Given the description of an element on the screen output the (x, y) to click on. 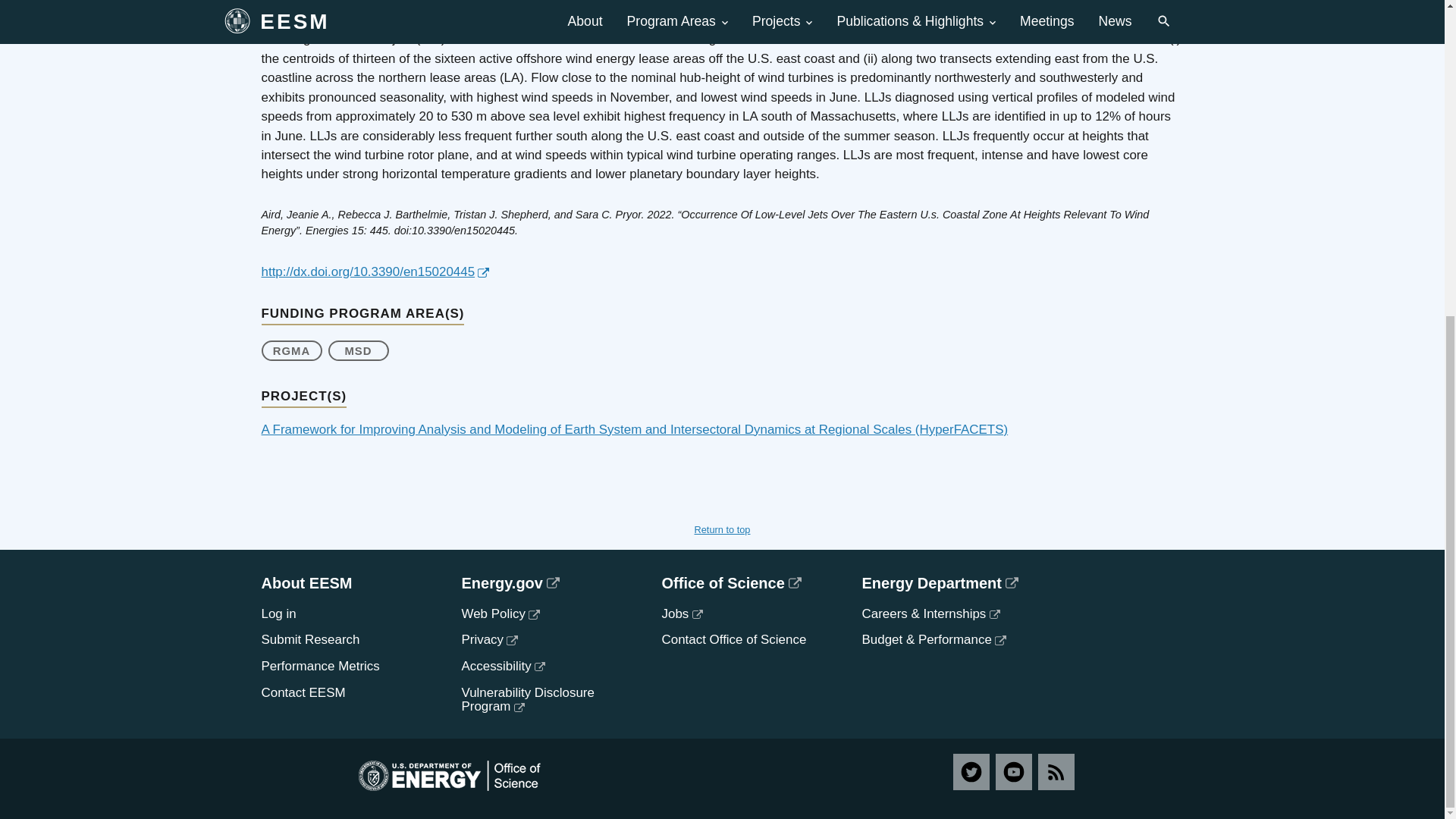
Submit Research (309, 639)
Energy.gov (549, 583)
U.S. Department of Energy Vulnerability Disclosure Program (527, 699)
MultiSector Dynamics (357, 350)
Web Policy (499, 613)
Jobs (681, 613)
Privacy (488, 639)
Log in (277, 613)
Energy Department (948, 583)
Accessibility (502, 666)
MSD (357, 350)
Return to top (722, 529)
Performance Metrics (319, 666)
Office of Science (749, 583)
Contact EESM (302, 692)
